Given the description of an element on the screen output the (x, y) to click on. 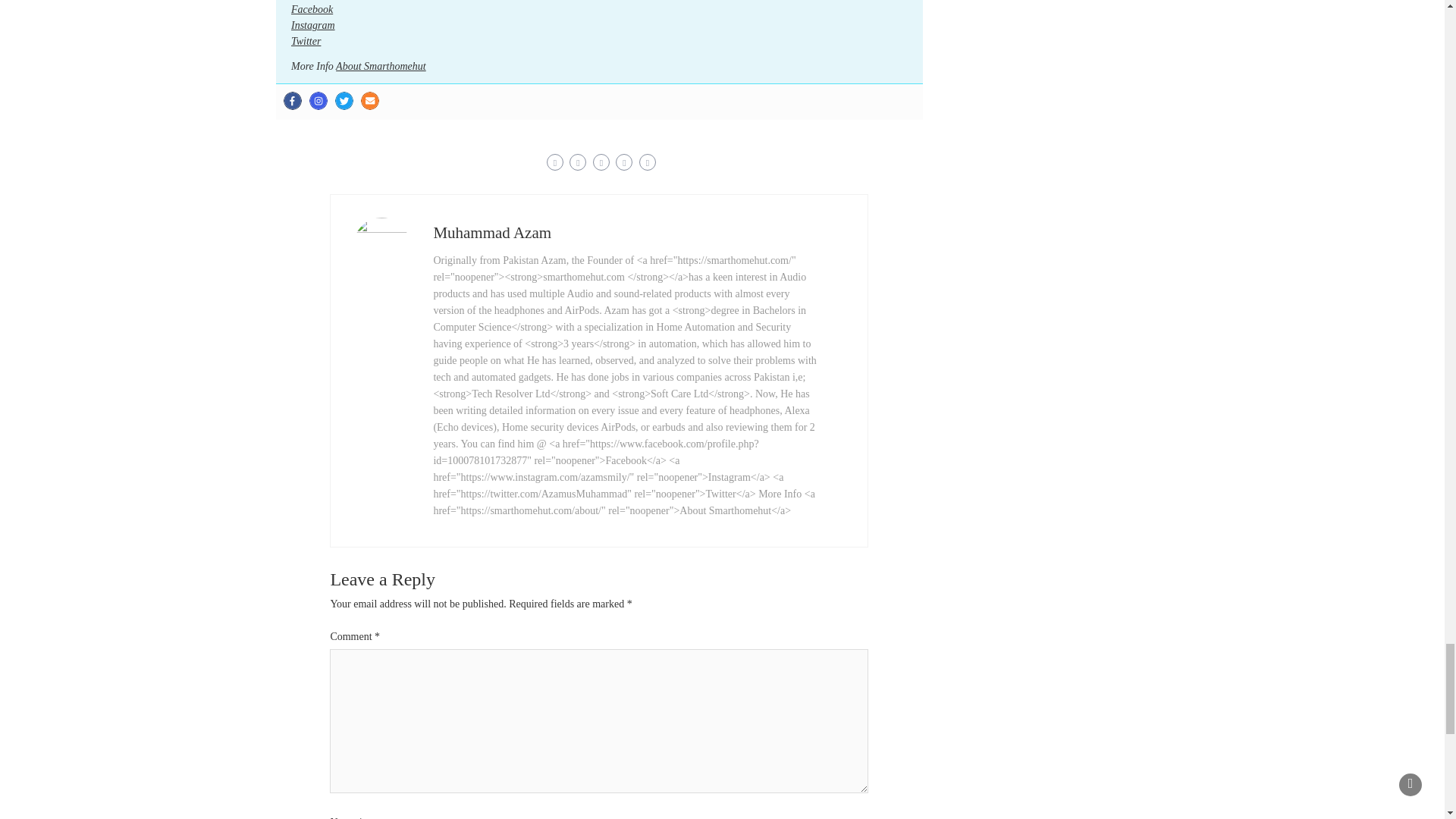
Twitter (343, 100)
Facebook (292, 100)
Instagram (317, 100)
Facebook (312, 9)
